Given the description of an element on the screen output the (x, y) to click on. 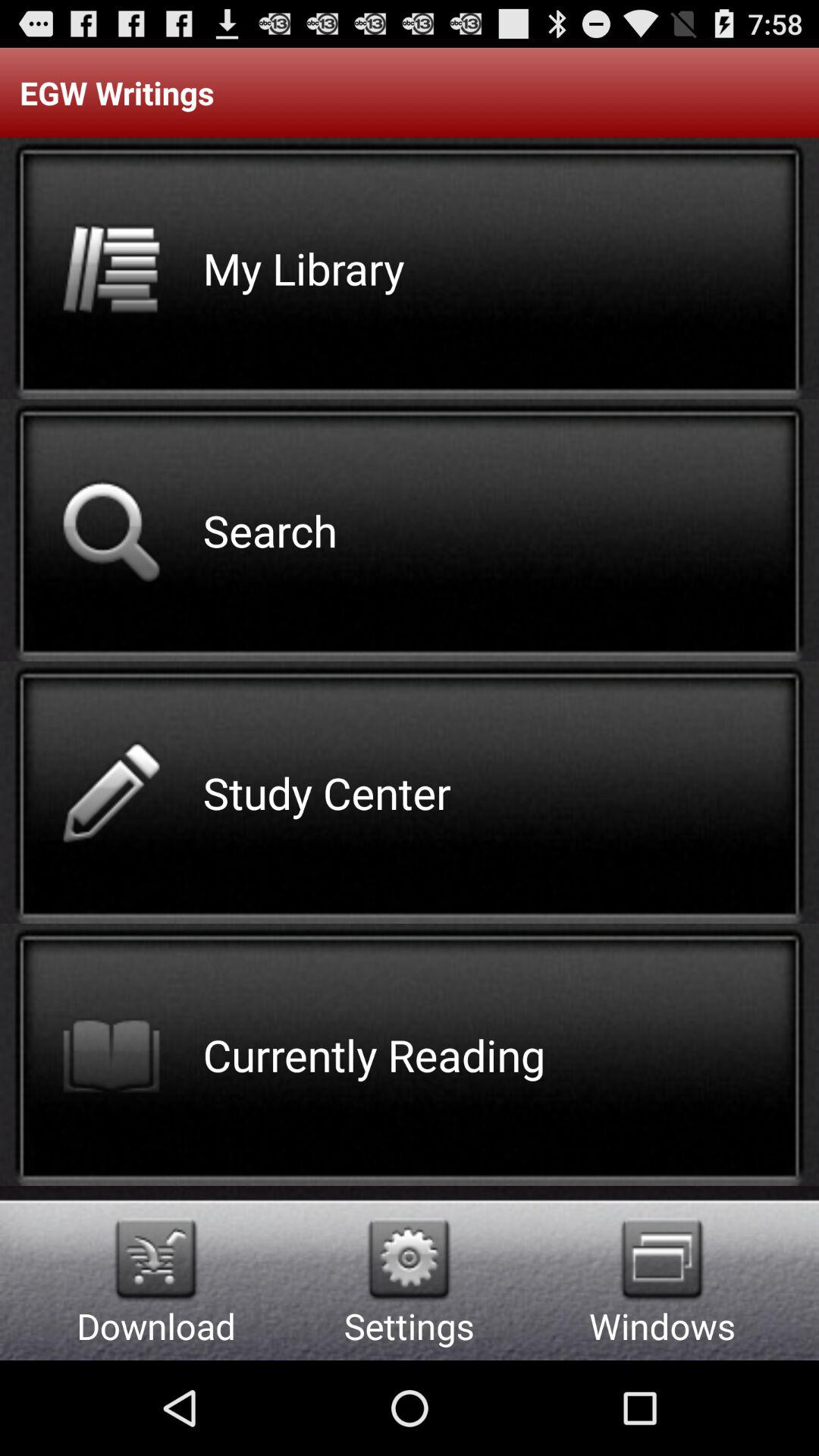
site settings (409, 1258)
